Given the description of an element on the screen output the (x, y) to click on. 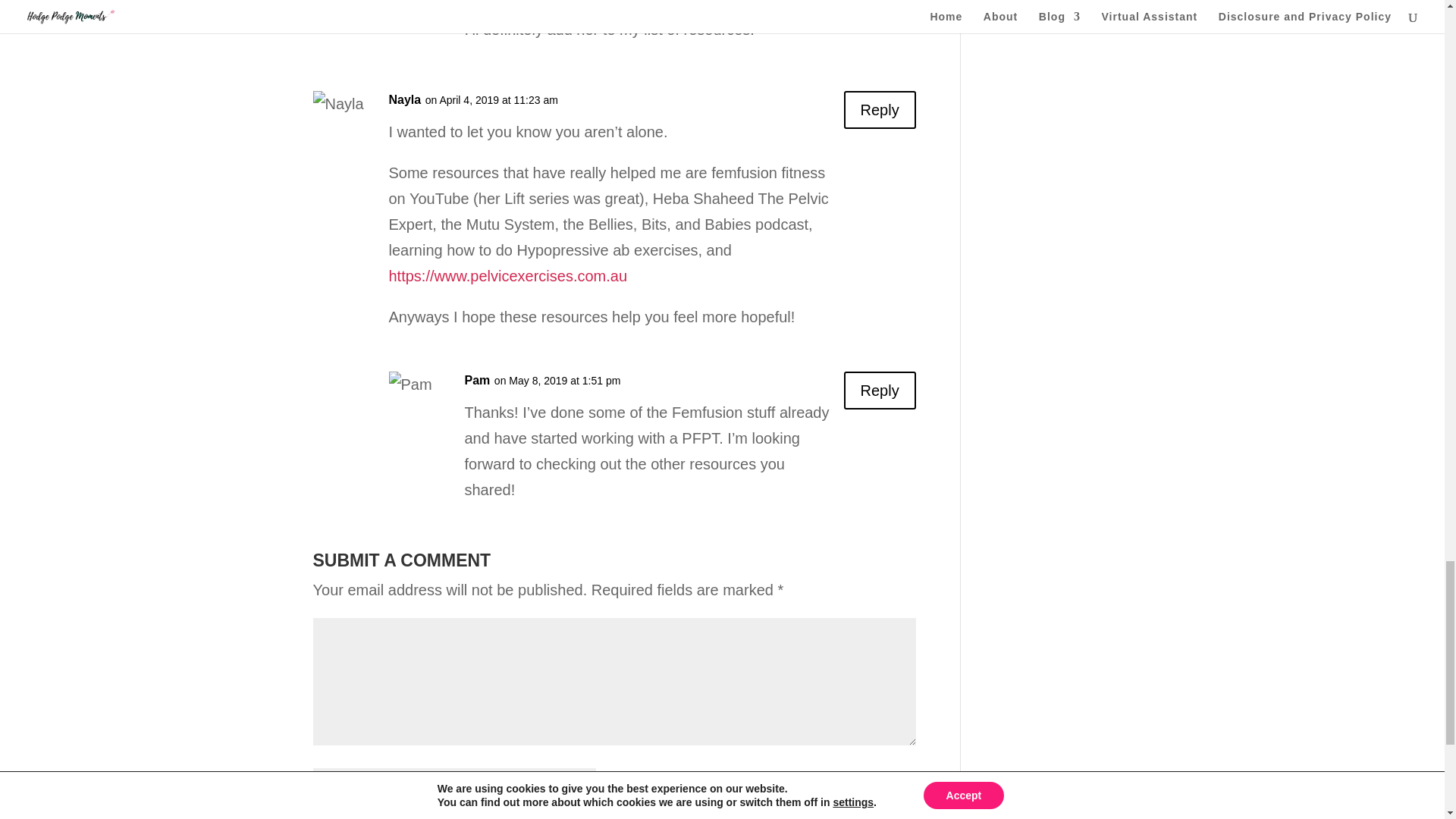
Reply (879, 390)
Reply (879, 13)
Reply (879, 109)
